Given the description of an element on the screen output the (x, y) to click on. 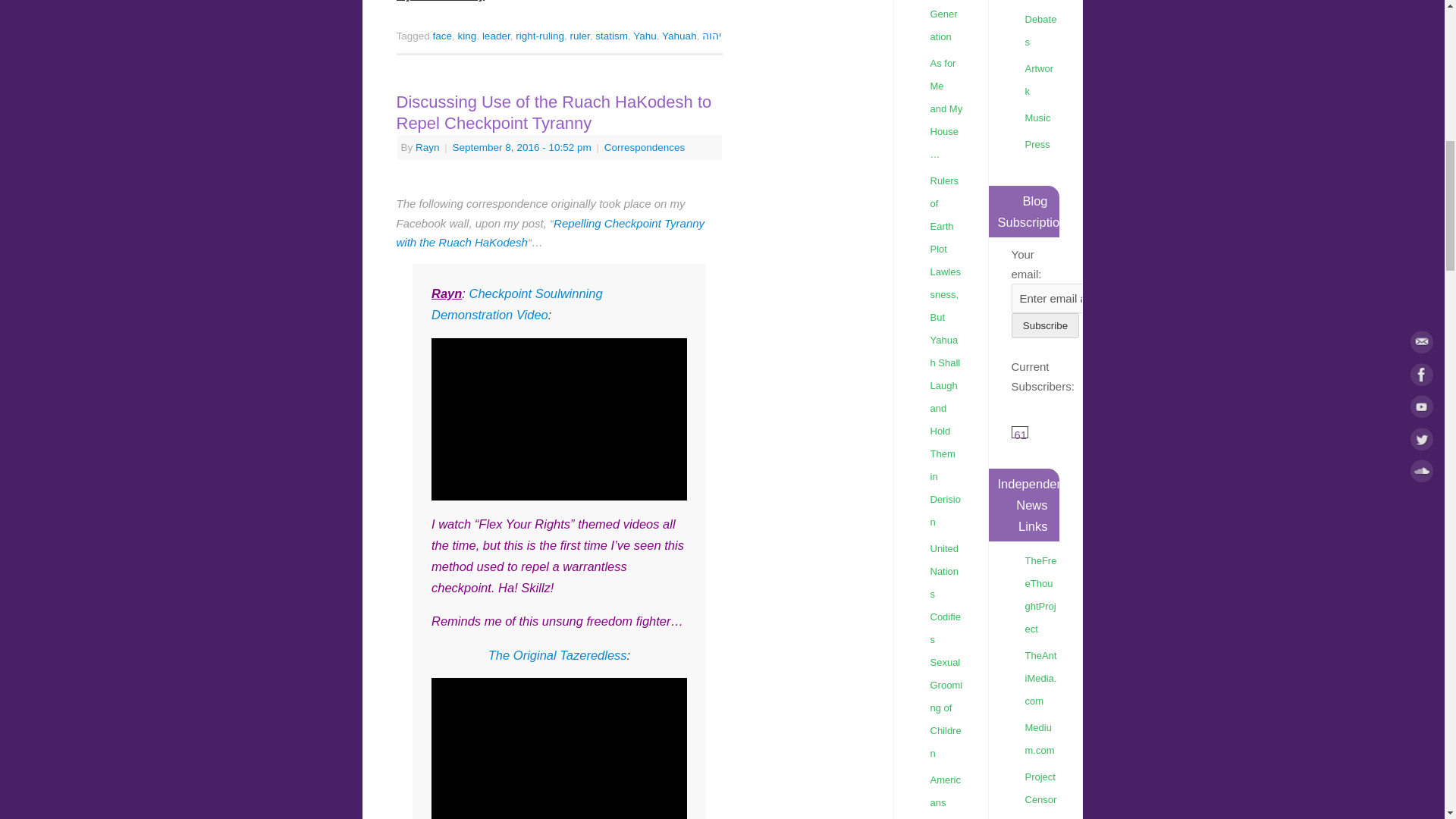
right-ruling (539, 35)
Yahu (644, 35)
YouTube video player (558, 419)
leader (496, 35)
View all posts by Rayn (426, 147)
Rayn (426, 147)
September 8, 2016 - 10:52 pm (521, 147)
YouTube video player (558, 748)
Yahuah (679, 35)
king (467, 35)
